Given the description of an element on the screen output the (x, y) to click on. 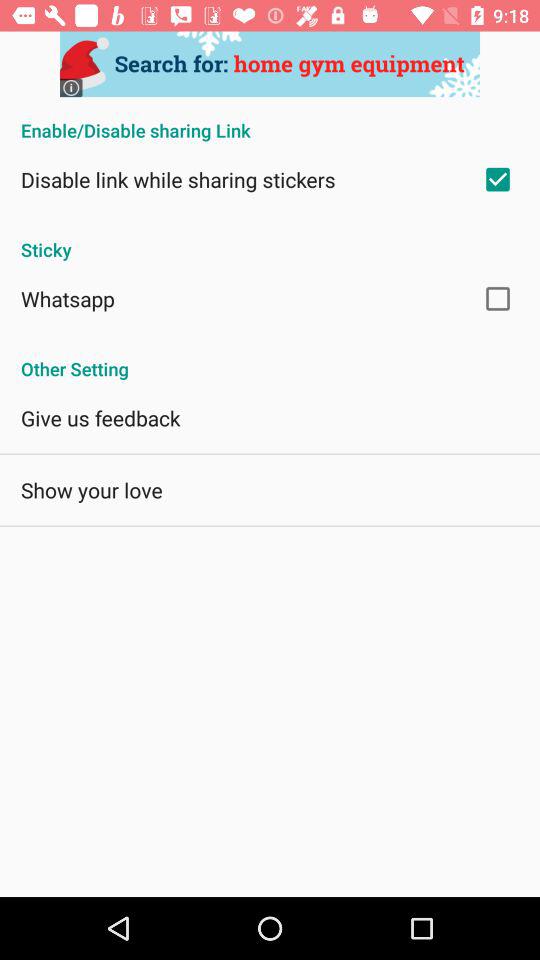
launch the give us feedback icon (100, 417)
